Given the description of an element on the screen output the (x, y) to click on. 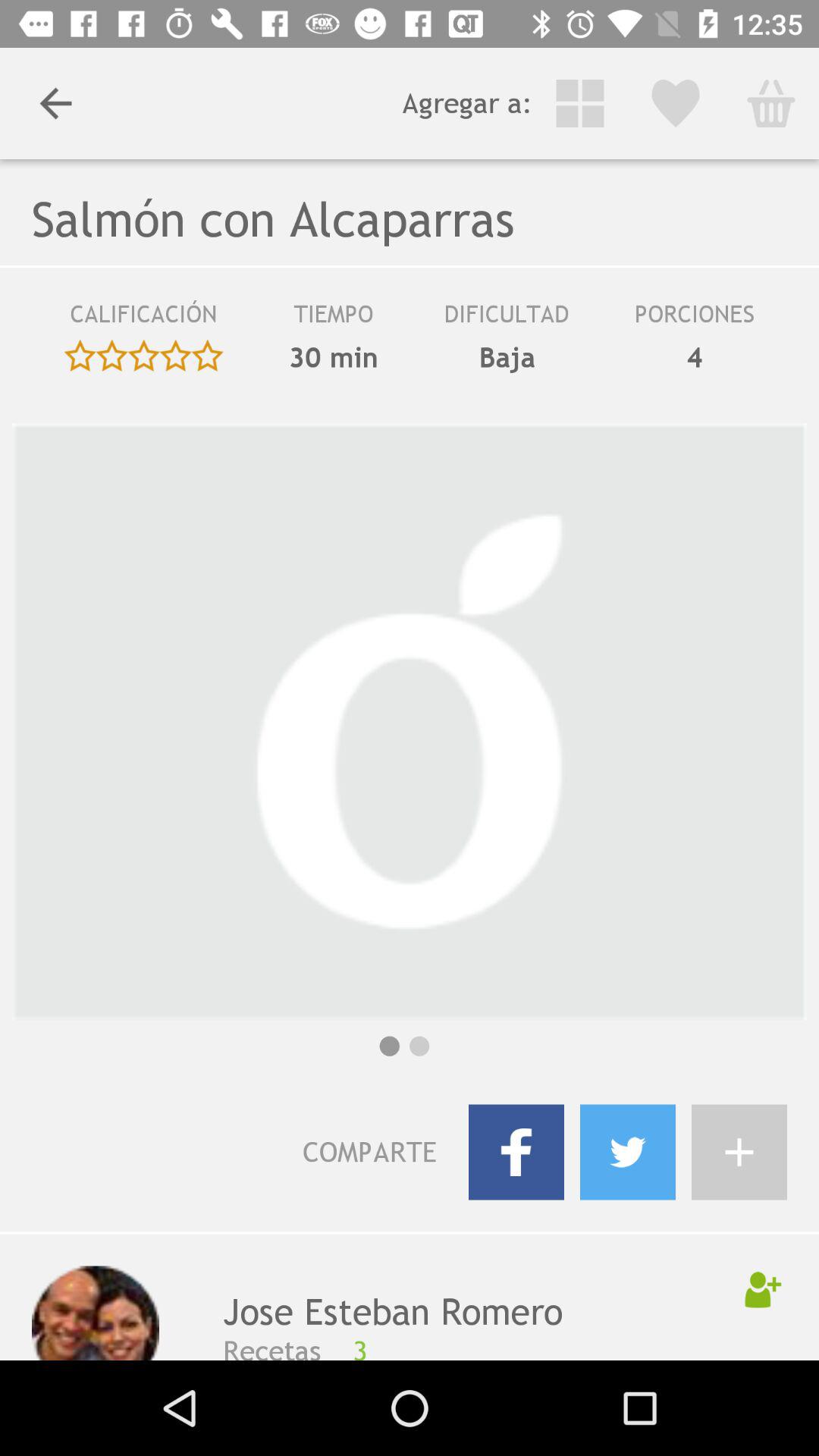
open the 4 icon (694, 357)
